Given the description of an element on the screen output the (x, y) to click on. 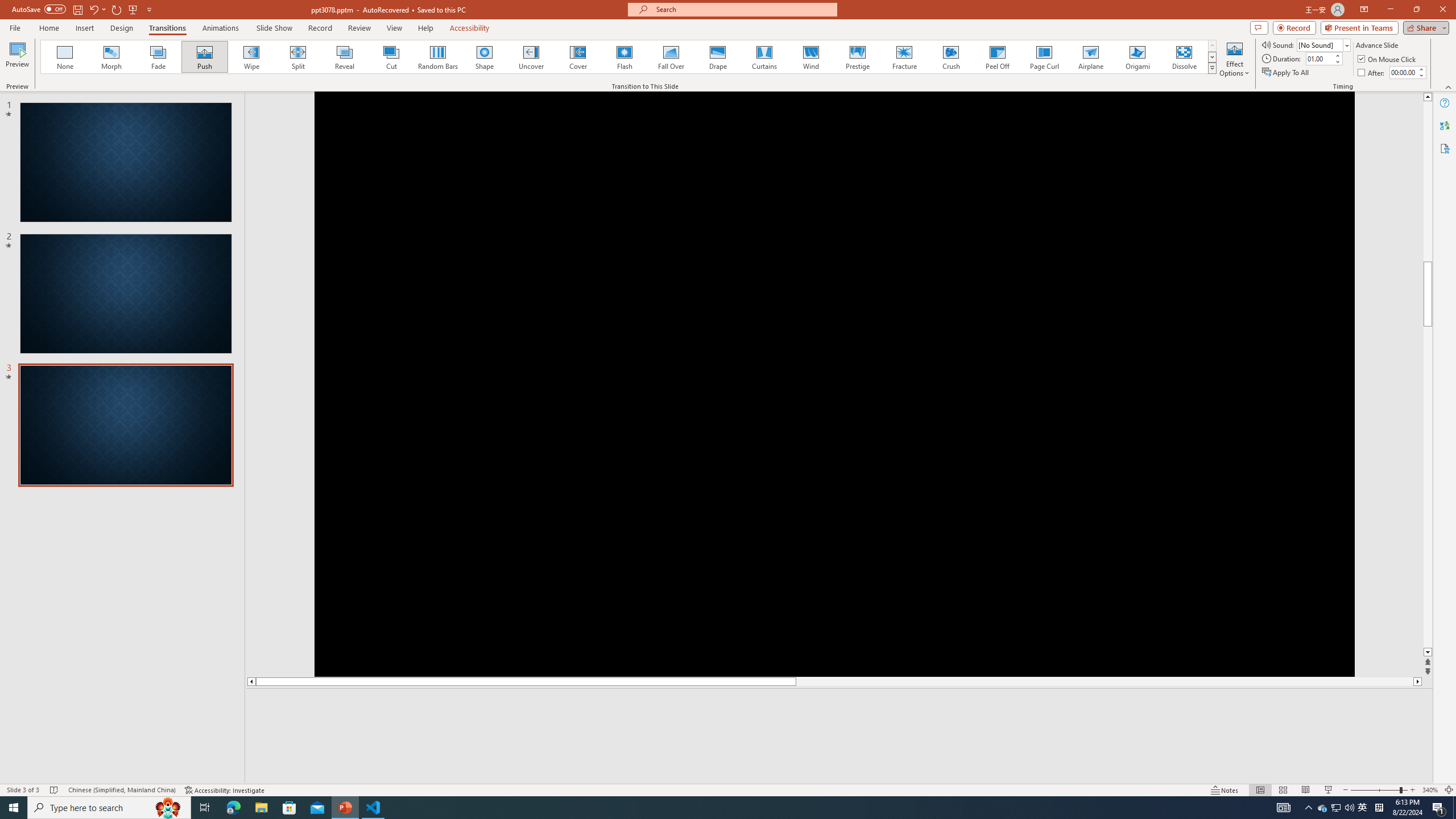
Fall Over (670, 56)
After (1403, 72)
Content Placeholder (1338, 289)
Wind (810, 56)
Sound (1324, 44)
Duration (1319, 58)
Cover (577, 56)
